Given the description of an element on the screen output the (x, y) to click on. 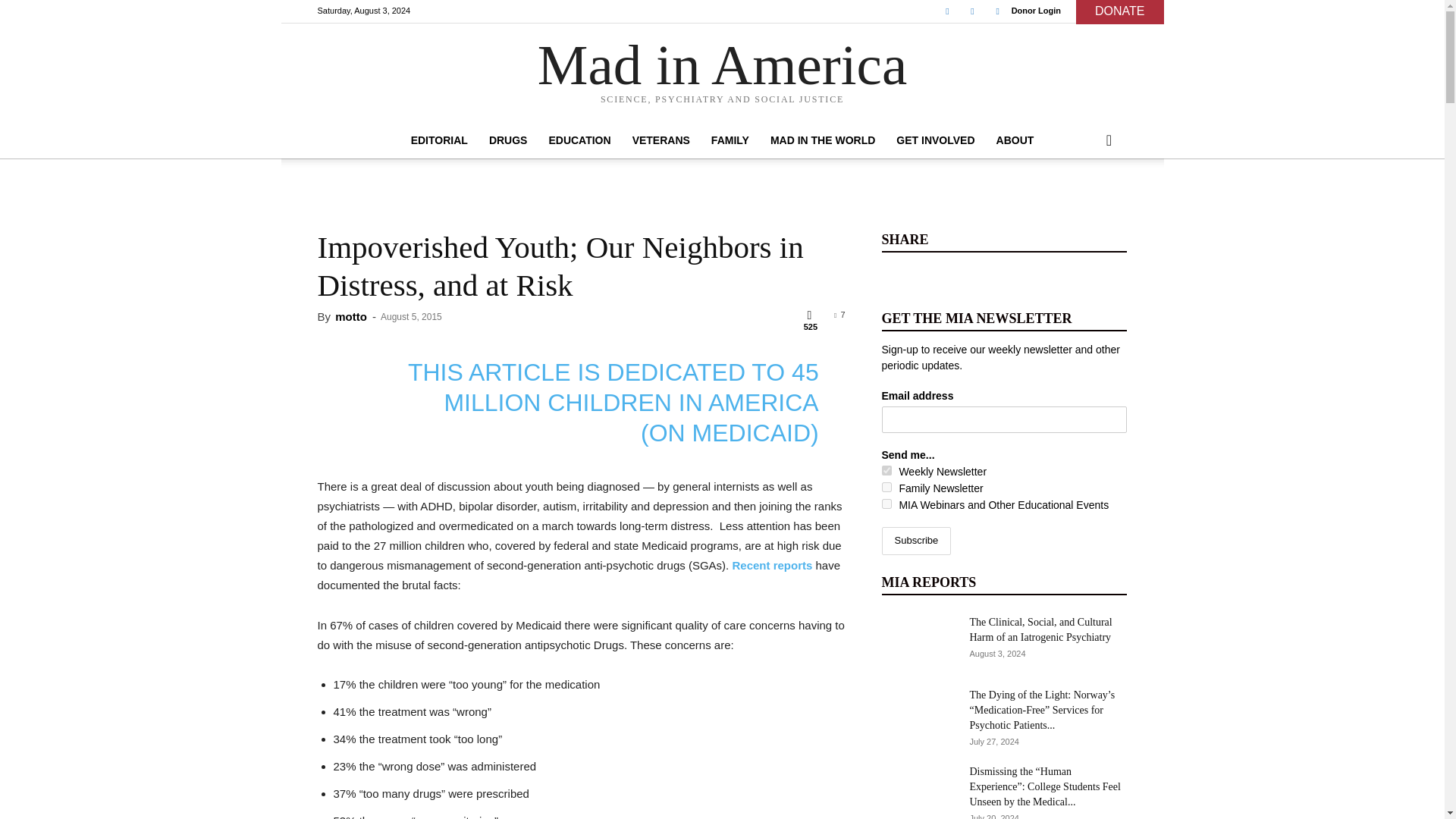
a8b577bac2 (885, 470)
Posts by motto (350, 316)
64ec82b4cd (885, 487)
Twitter (972, 10)
Facebook (947, 10)
Youtube (998, 10)
59a3706891 (885, 503)
Subscribe (915, 541)
